Given the description of an element on the screen output the (x, y) to click on. 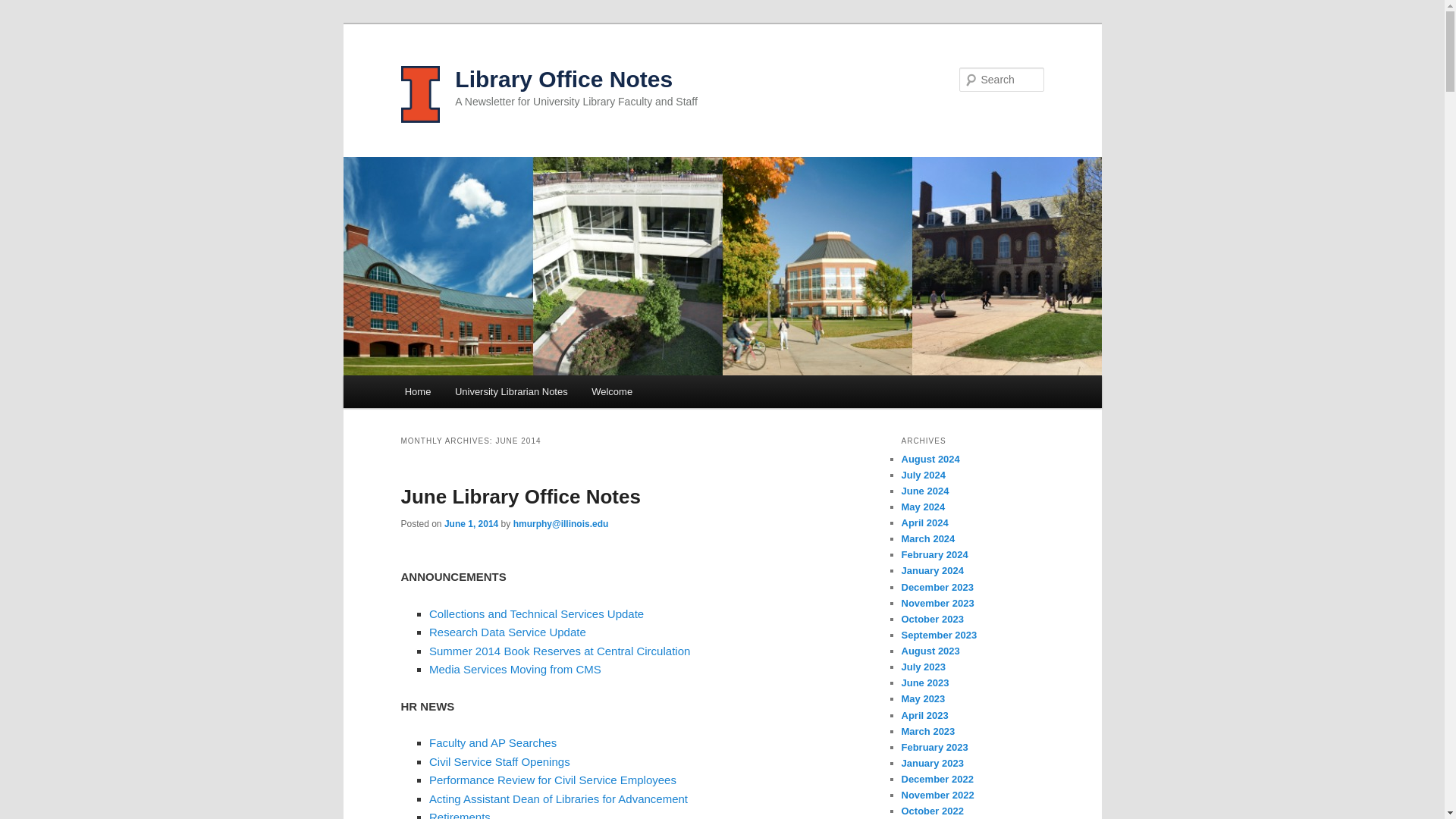
8:00 am (470, 523)
University Librarian Notes (510, 391)
Library Office Notes (563, 78)
Home (417, 391)
Search (24, 8)
